Given the description of an element on the screen output the (x, y) to click on. 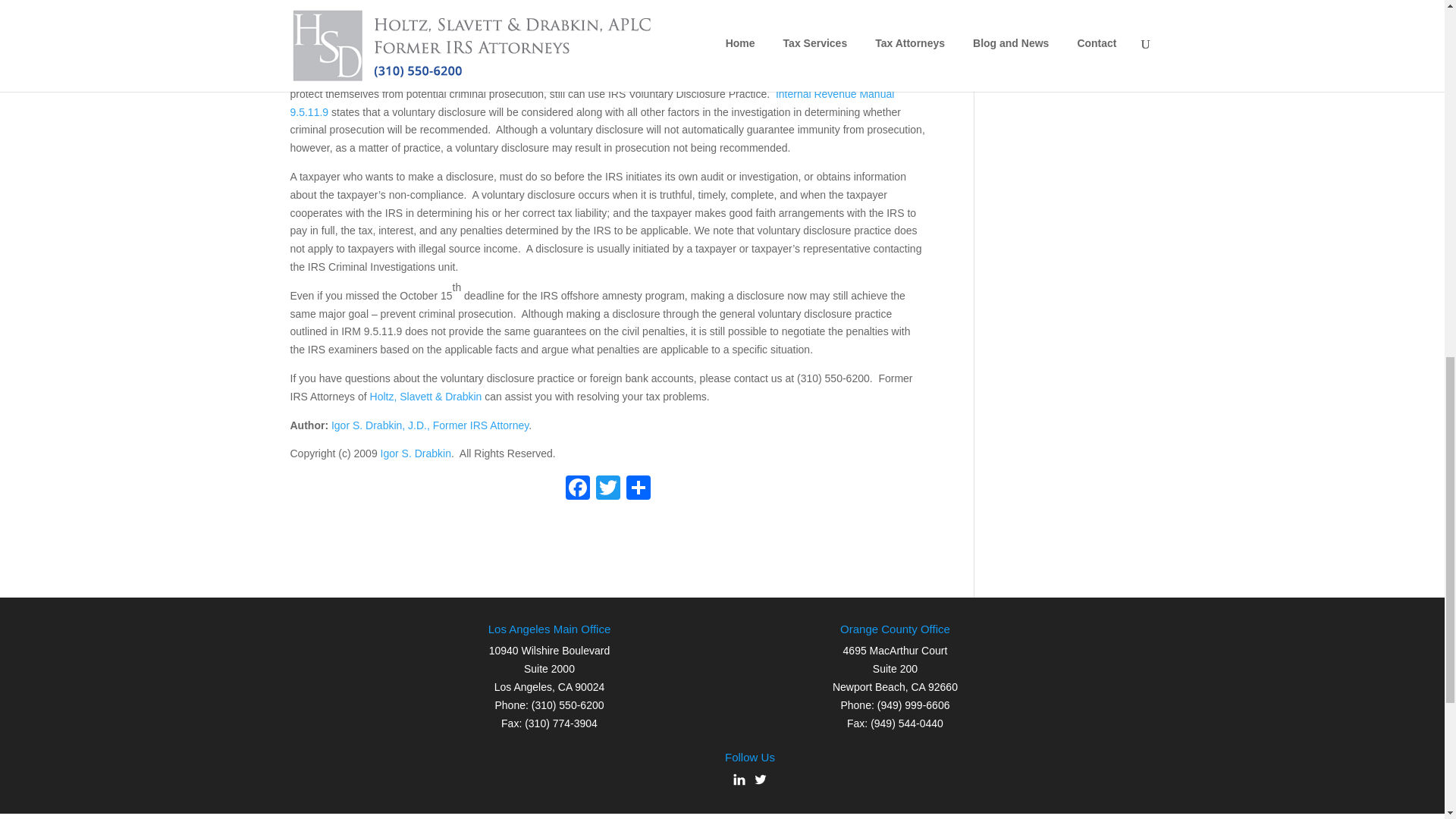
Voluntary Disclosure Practice (591, 102)
Former IRS Attorneys - Los Angeles Tax Attorneys (425, 396)
Facebook (577, 489)
Twitter (607, 489)
Igor Drabkin, Los Angeles Tax Attorney, Former IRS Attorney (429, 425)
